Given the description of an element on the screen output the (x, y) to click on. 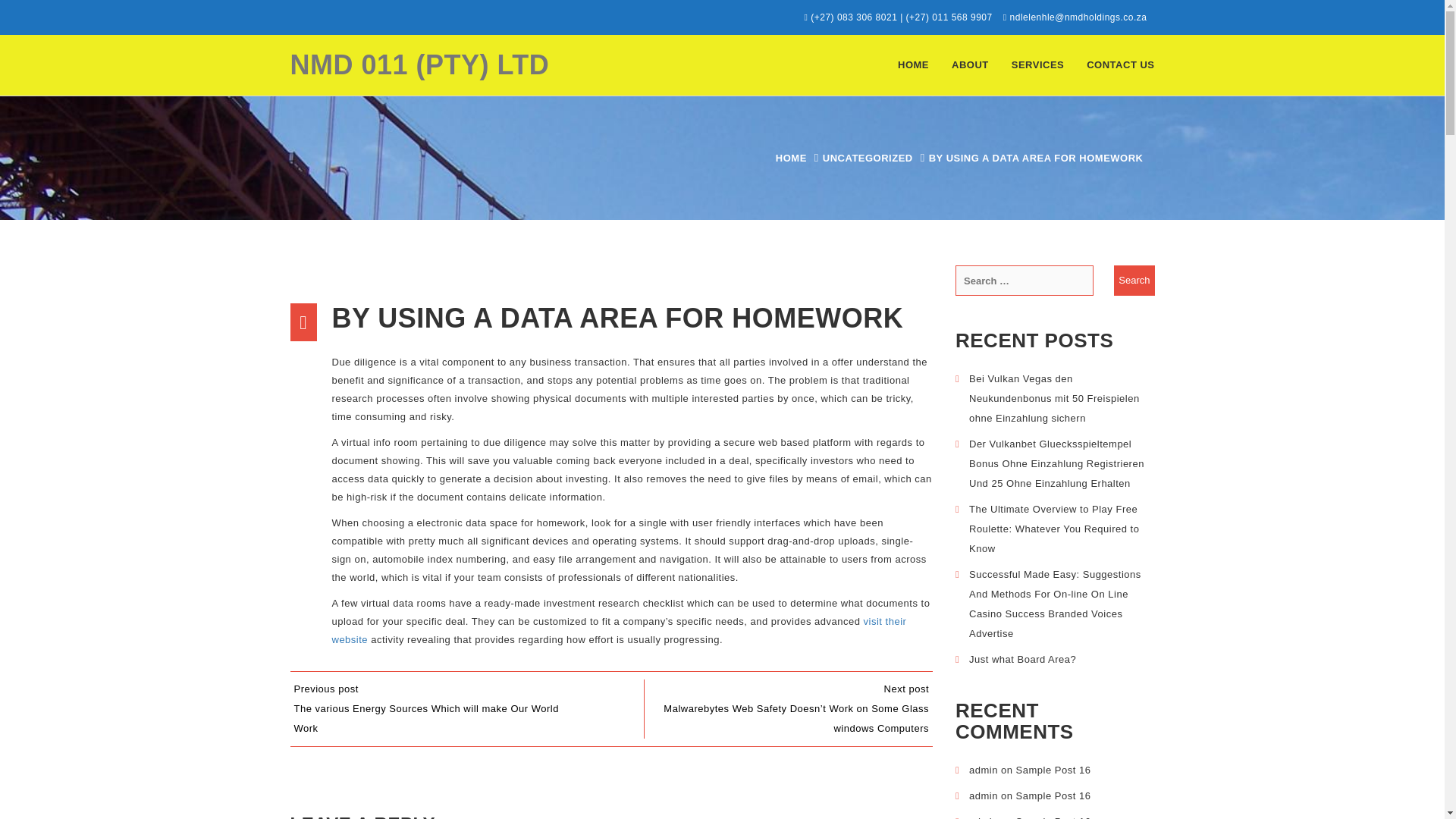
Services (1037, 65)
HOME (791, 157)
Search (1133, 280)
CONTACT US (1120, 65)
visit their website (619, 630)
ABOUT (970, 65)
Sample Post 16 (1053, 817)
UNCATEGORIZED (867, 157)
SERVICES (1037, 65)
